Given the description of an element on the screen output the (x, y) to click on. 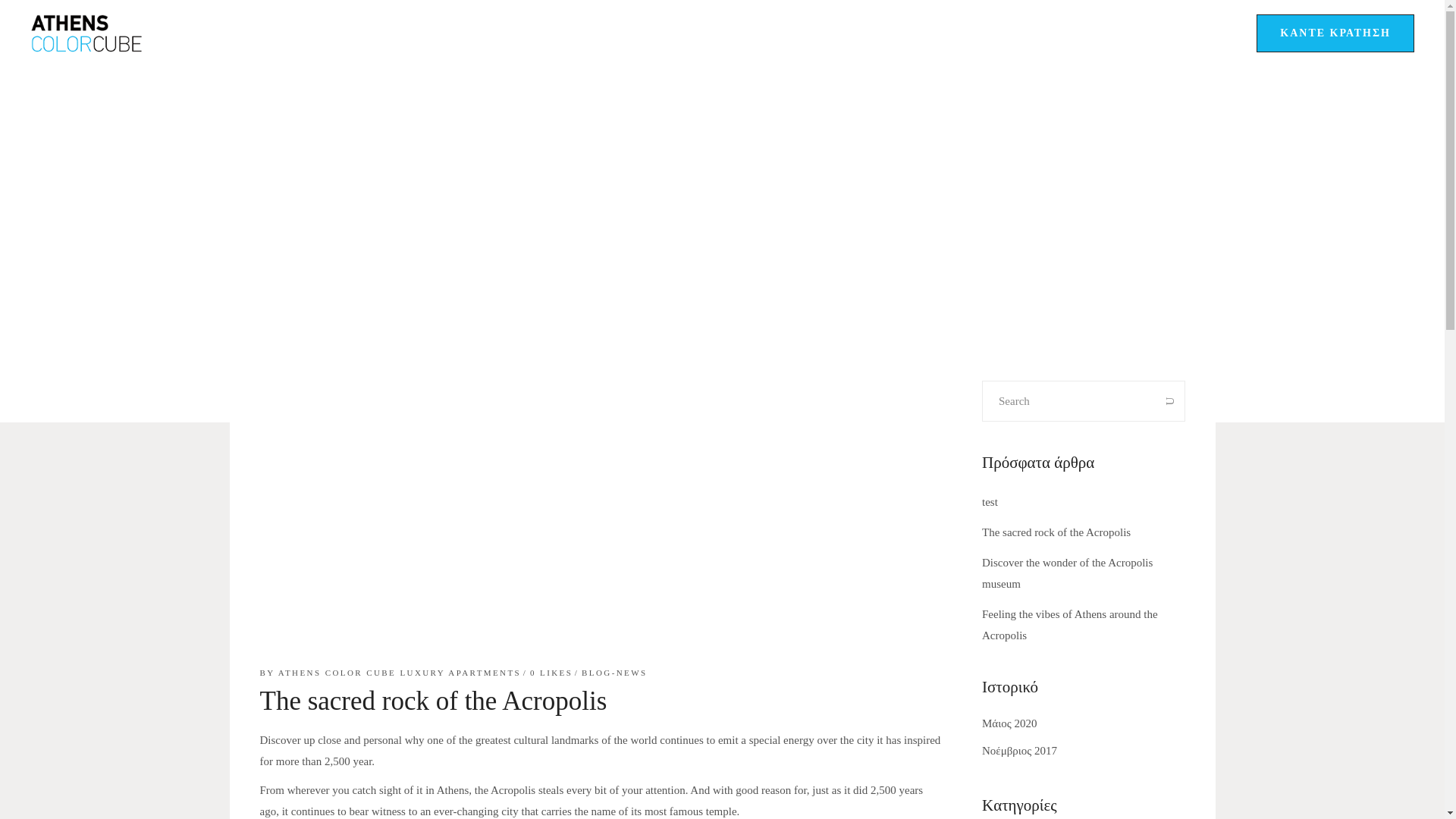
Search for: (1068, 400)
GR (1064, 33)
Like this (550, 672)
GR (1064, 33)
